Given the description of an element on the screen output the (x, y) to click on. 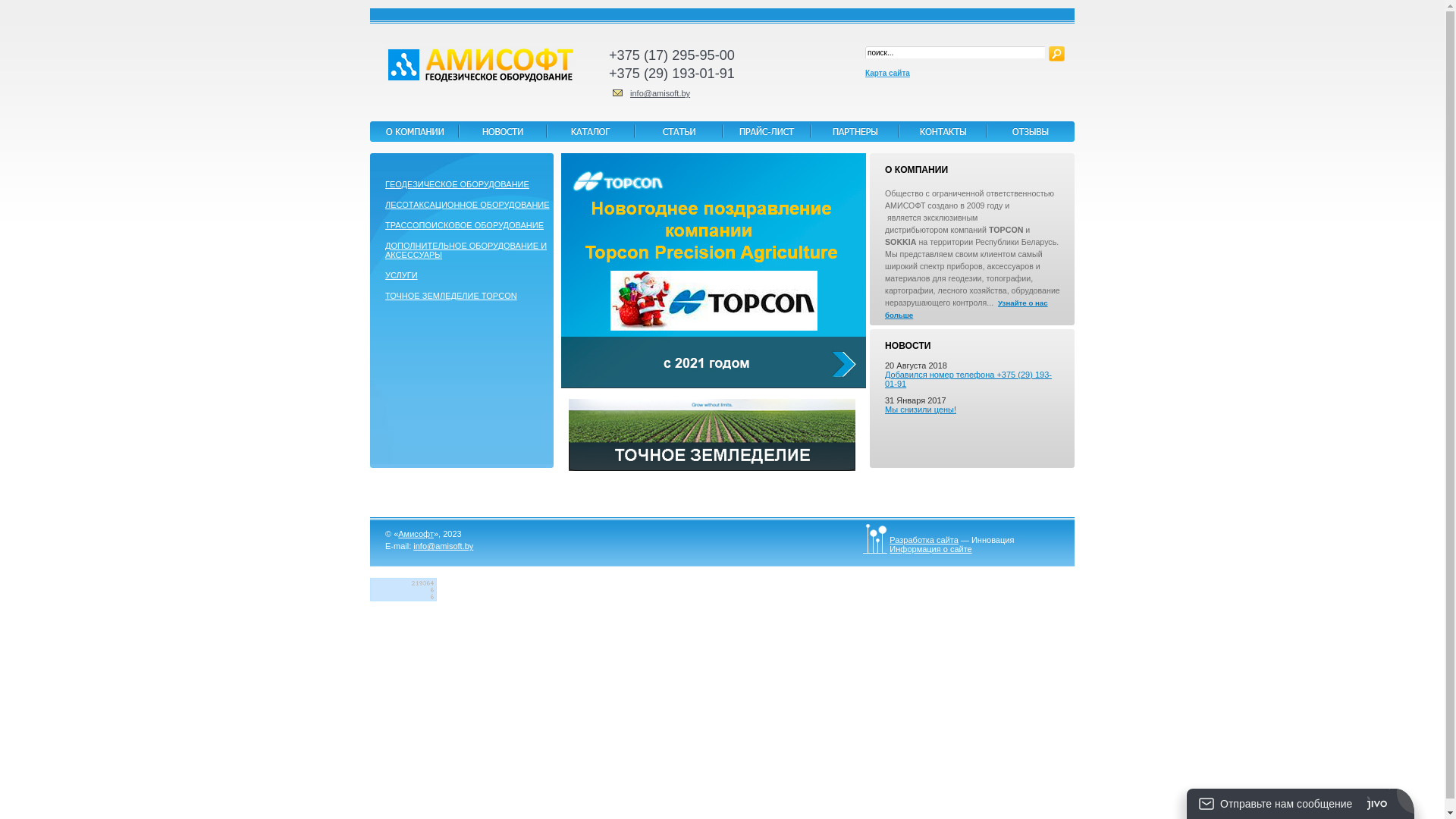
info@amisoft.by Element type: text (660, 92)
info@amisoft.by Element type: text (443, 545)
2021_Topcon Element type: hover (713, 270)
